Given the description of an element on the screen output the (x, y) to click on. 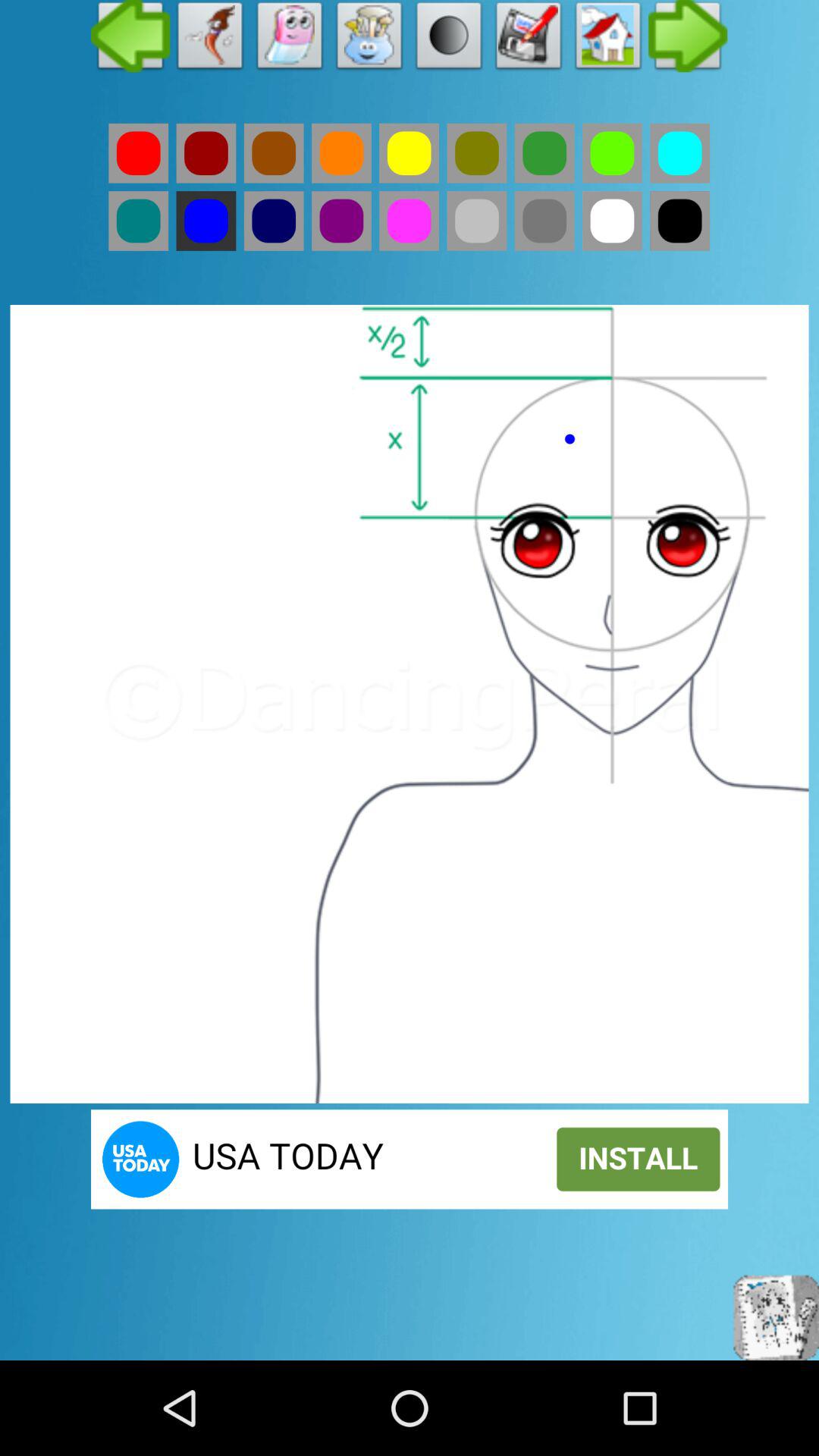
black color button (679, 220)
